Given the description of an element on the screen output the (x, y) to click on. 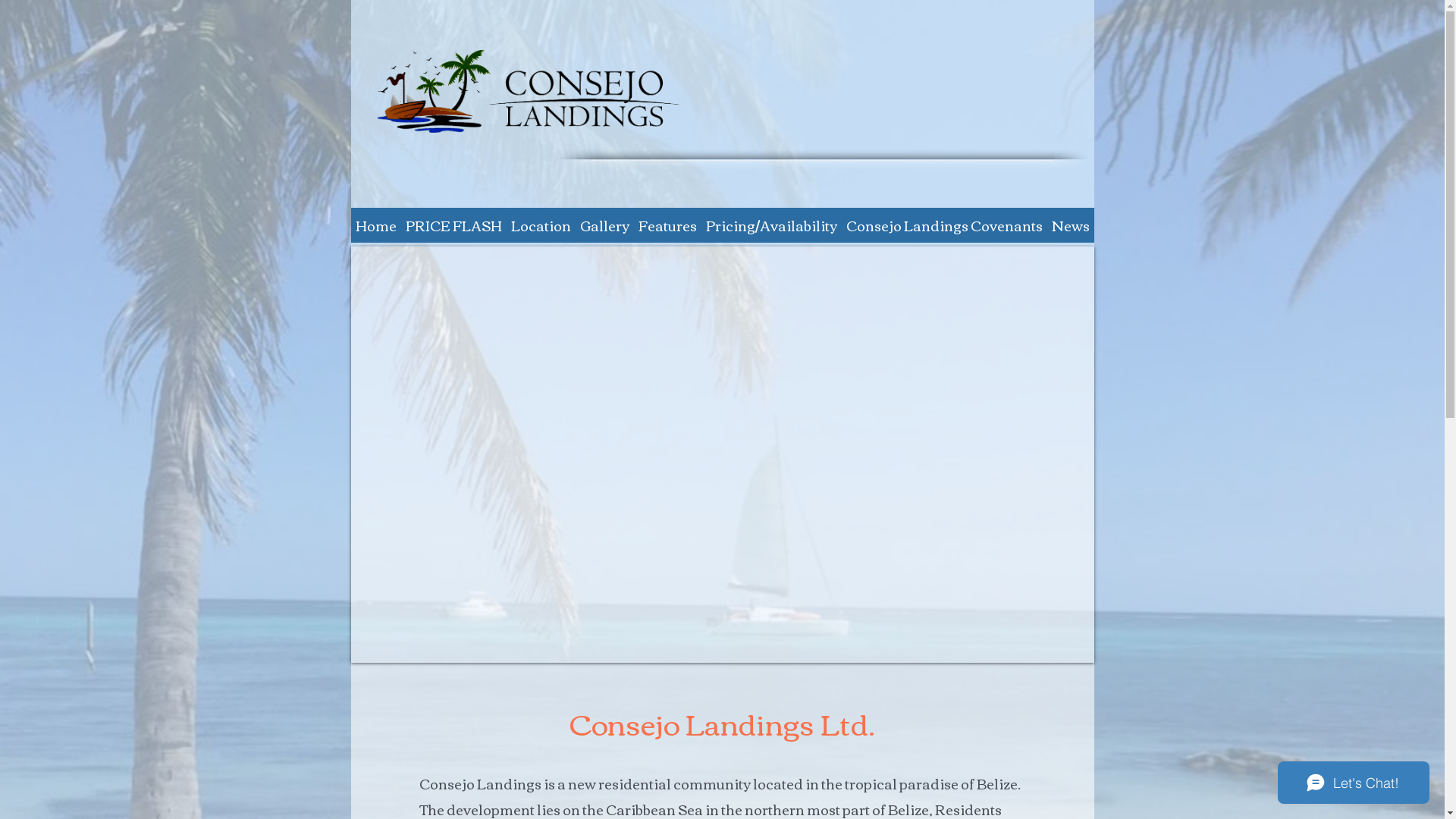
Location Element type: text (540, 224)
Home Element type: text (375, 224)
Features Element type: text (667, 224)
Pricing/Availability Element type: text (770, 224)
PRICE FLASH Element type: text (452, 224)
Consejo Landings Covenants Element type: text (944, 224)
News Element type: text (1069, 224)
